Given the description of an element on the screen output the (x, y) to click on. 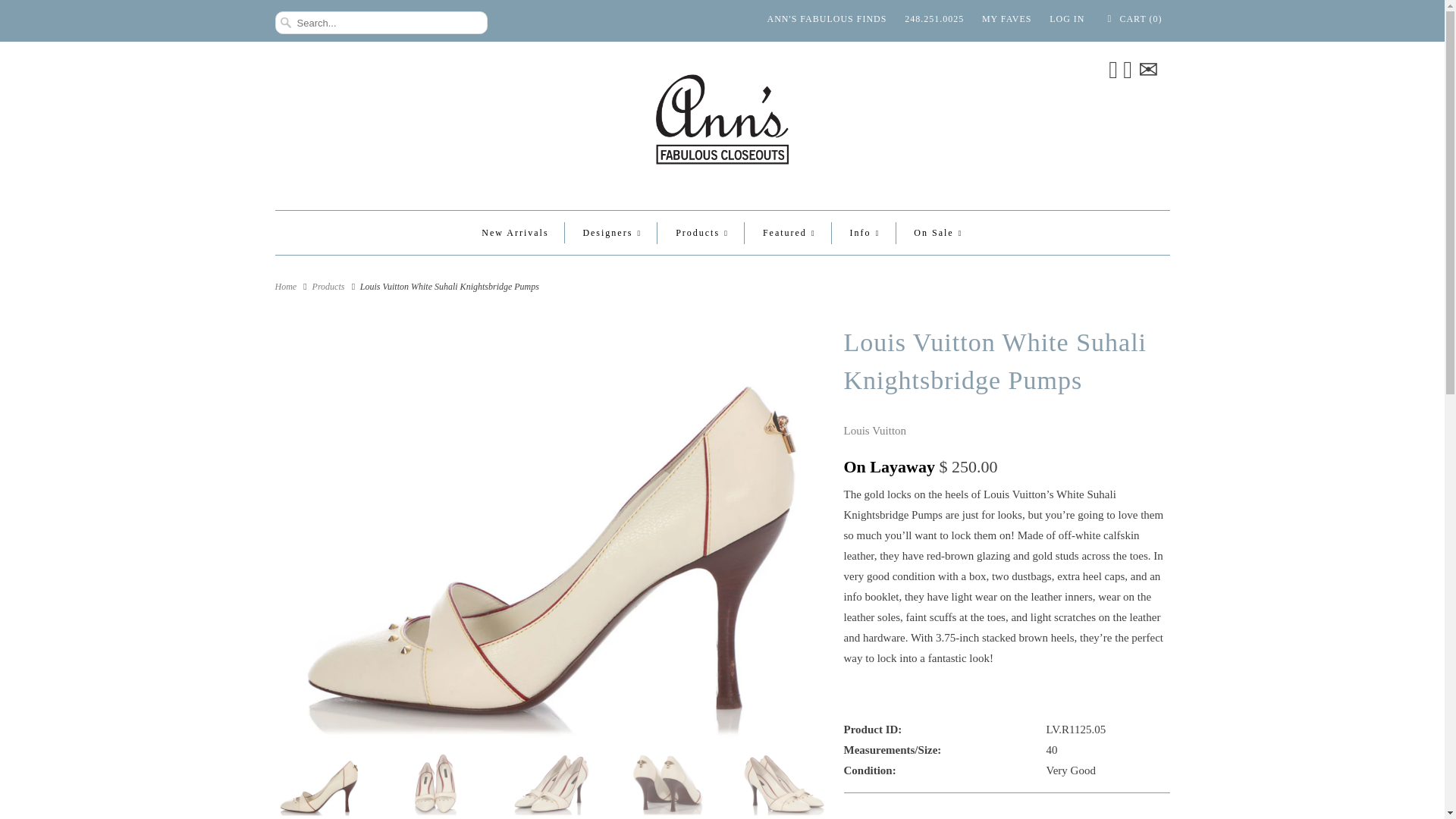
Share this on Pinterest (1003, 814)
MY FAVES (1005, 18)
Email this to a friend (1055, 814)
Share this on Facebook (950, 814)
Products (329, 286)
LOG IN (1066, 18)
Ann's Fabulous Closeouts (286, 286)
248.251.0025 (933, 18)
Ann's Fabulous Closeouts (722, 123)
